Given the description of an element on the screen output the (x, y) to click on. 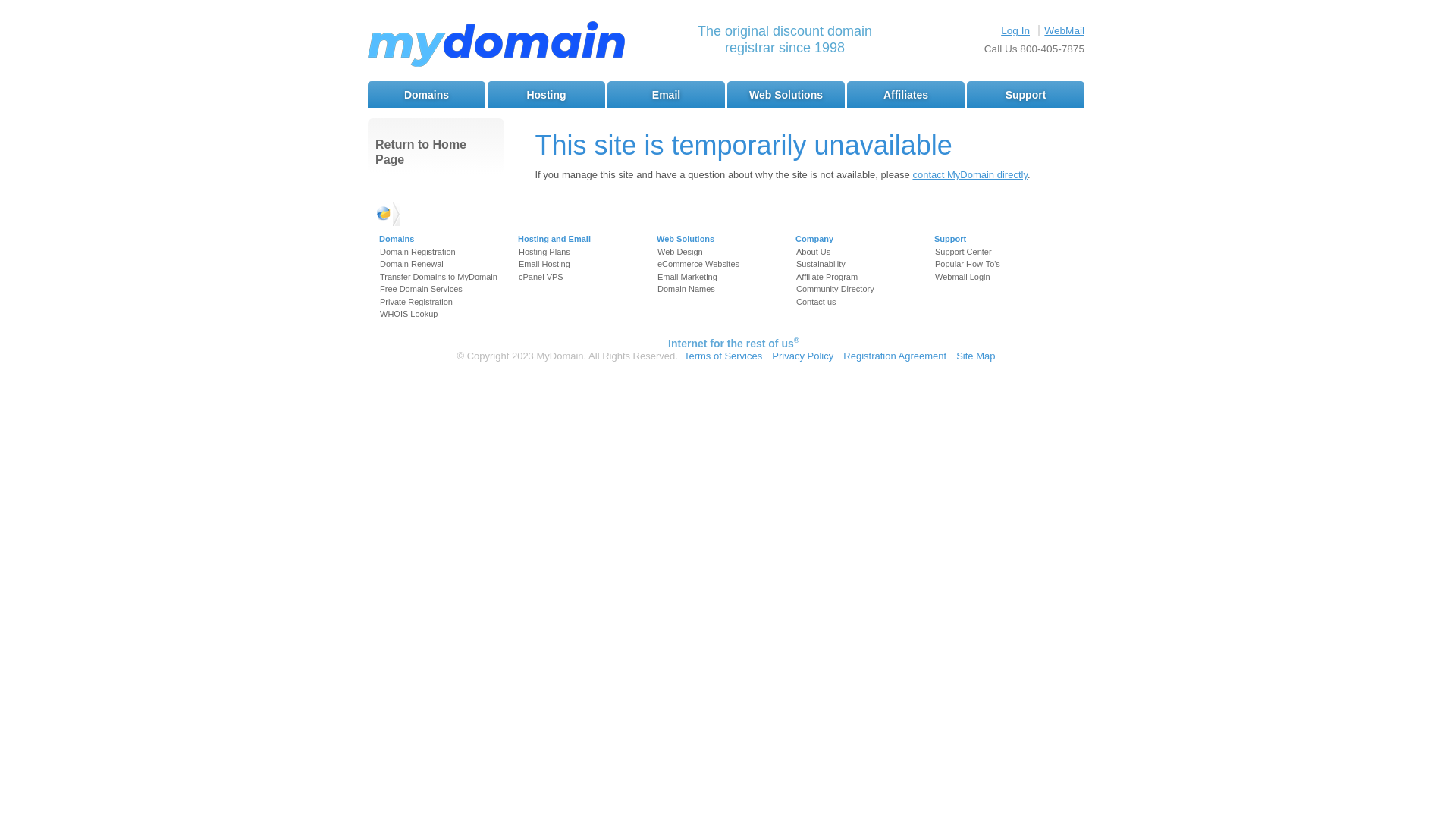
Company Element type: text (814, 238)
Support Element type: text (1025, 94)
Support Center Element type: text (963, 251)
Hosting Element type: text (546, 94)
Web Solutions Element type: text (785, 94)
Community Directory Element type: text (835, 288)
Log In Element type: text (1015, 30)
Domain Registration Element type: text (417, 251)
Sustainability Element type: text (820, 263)
Email Element type: text (665, 94)
Affiliates Element type: text (905, 94)
Contact us Element type: text (816, 301)
Email Marketing Element type: text (687, 276)
Registration Agreement Element type: text (894, 355)
WebMail Element type: text (1064, 30)
Site Map Element type: text (975, 355)
Free Domain Services Element type: text (420, 288)
About Us Element type: text (813, 251)
Web Solutions Element type: text (685, 238)
Support Element type: text (950, 238)
Domains Element type: text (426, 94)
Email Hosting Element type: text (544, 263)
contact MyDomain directly Element type: text (969, 174)
cPanel VPS Element type: text (540, 276)
Affiliate Program Element type: text (826, 276)
Hosting Plans Element type: text (544, 251)
WHOIS Lookup Element type: text (408, 313)
Privacy Policy Element type: text (802, 355)
Domains Element type: text (396, 238)
Web Design Element type: text (679, 251)
Hosting and Email Element type: text (553, 238)
Domain Names Element type: text (686, 288)
Transfer Domains to MyDomain Element type: text (438, 276)
Domain Renewal Element type: text (411, 263)
Popular How-To's Element type: text (967, 263)
Terms of Services Element type: text (723, 355)
Webmail Login Element type: text (962, 276)
eCommerce Websites Element type: text (698, 263)
MyDomain Element type: text (495, 46)
Private Registration Element type: text (415, 301)
Return to Home Page Element type: text (435, 151)
